Given the description of an element on the screen output the (x, y) to click on. 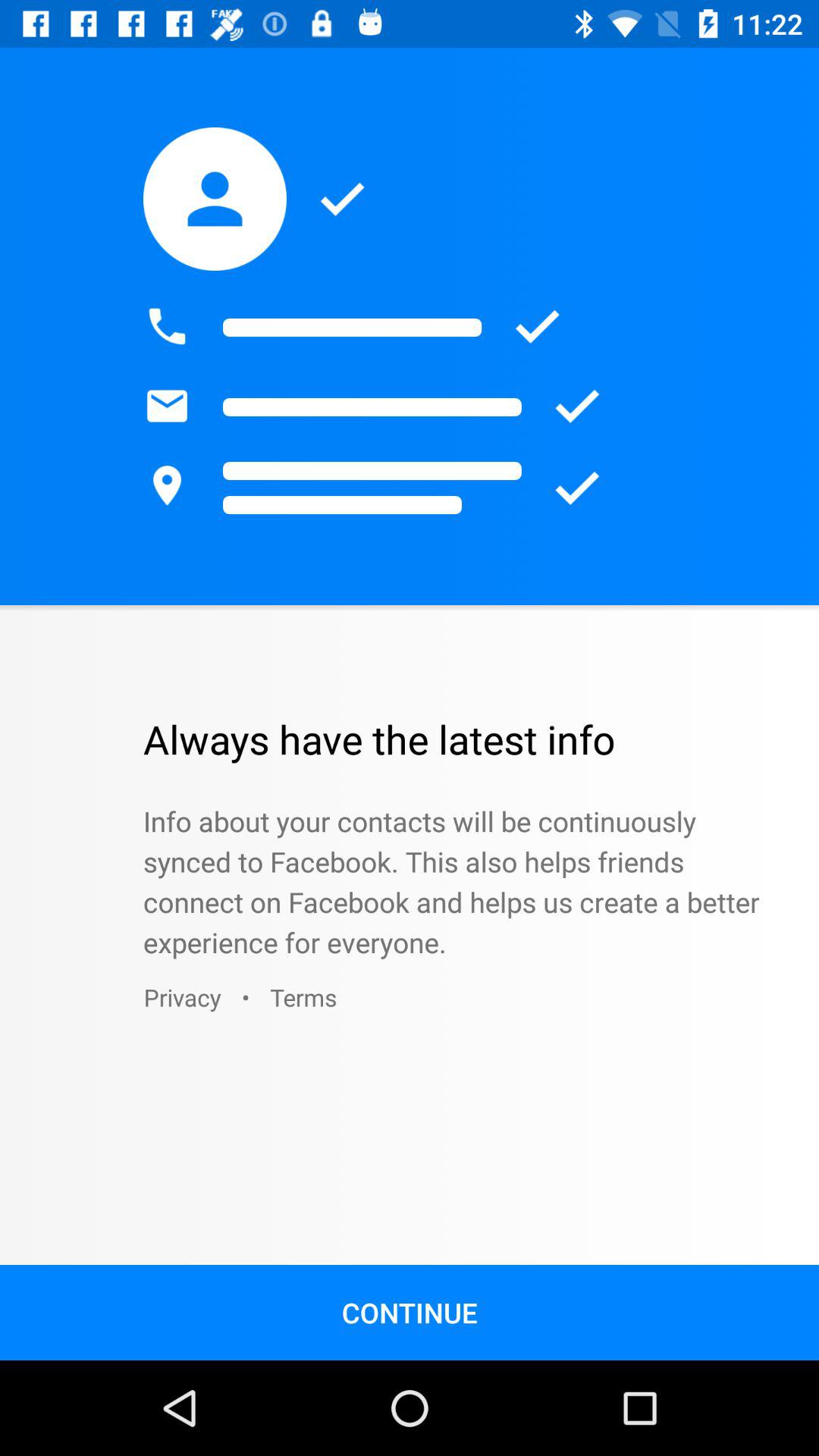
choose the icon below privacy (409, 1312)
